Given the description of an element on the screen output the (x, y) to click on. 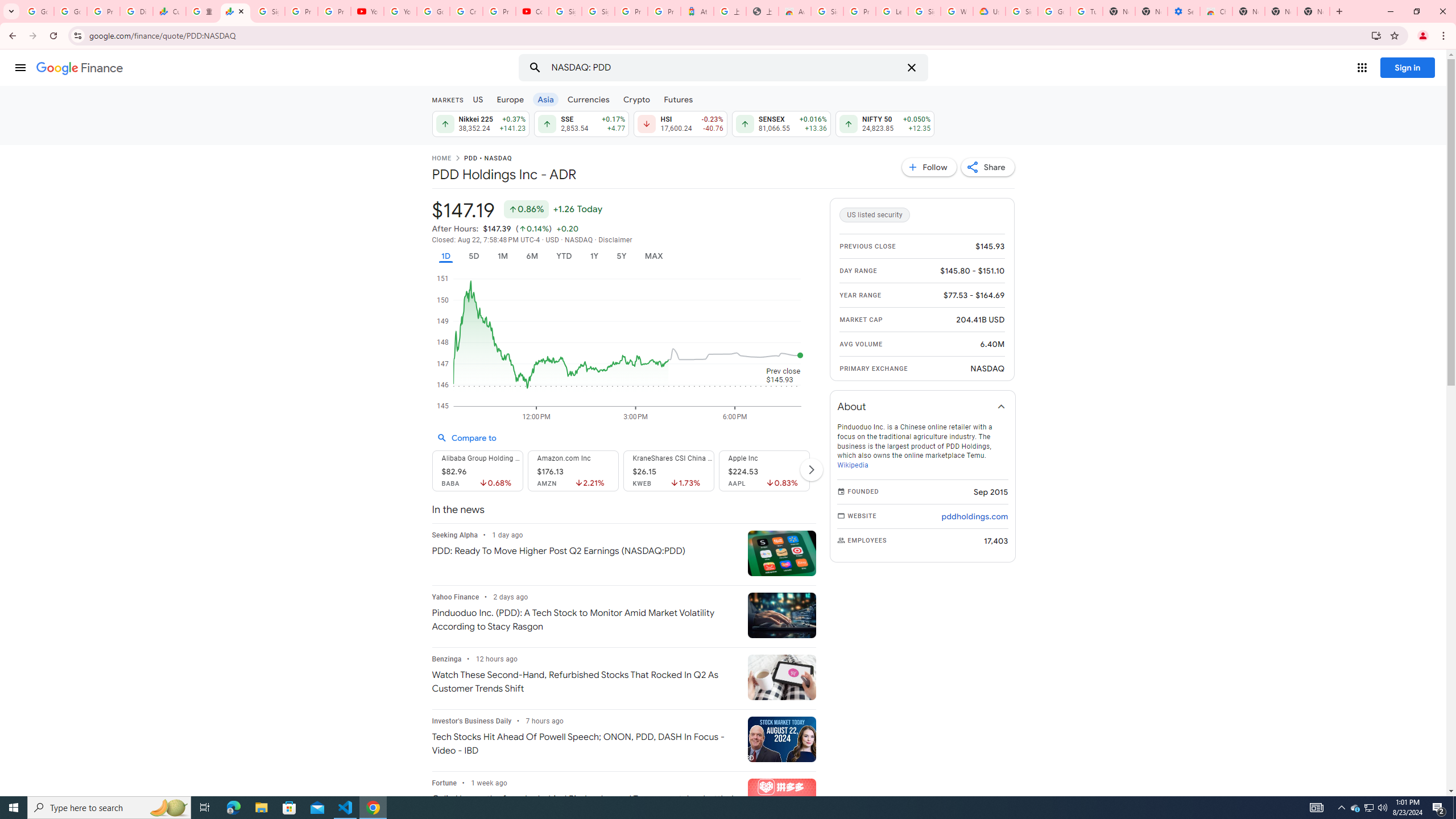
Crypto (636, 99)
Create your Google Account (465, 11)
HSI 17,600.24 Down by 0.26% -40.76 (680, 123)
Install Google Finance (1376, 35)
NIFTY 50 24,823.85 Up by 0.020% +12.35 (884, 123)
About (923, 406)
Share (987, 167)
